Given the description of an element on the screen output the (x, y) to click on. 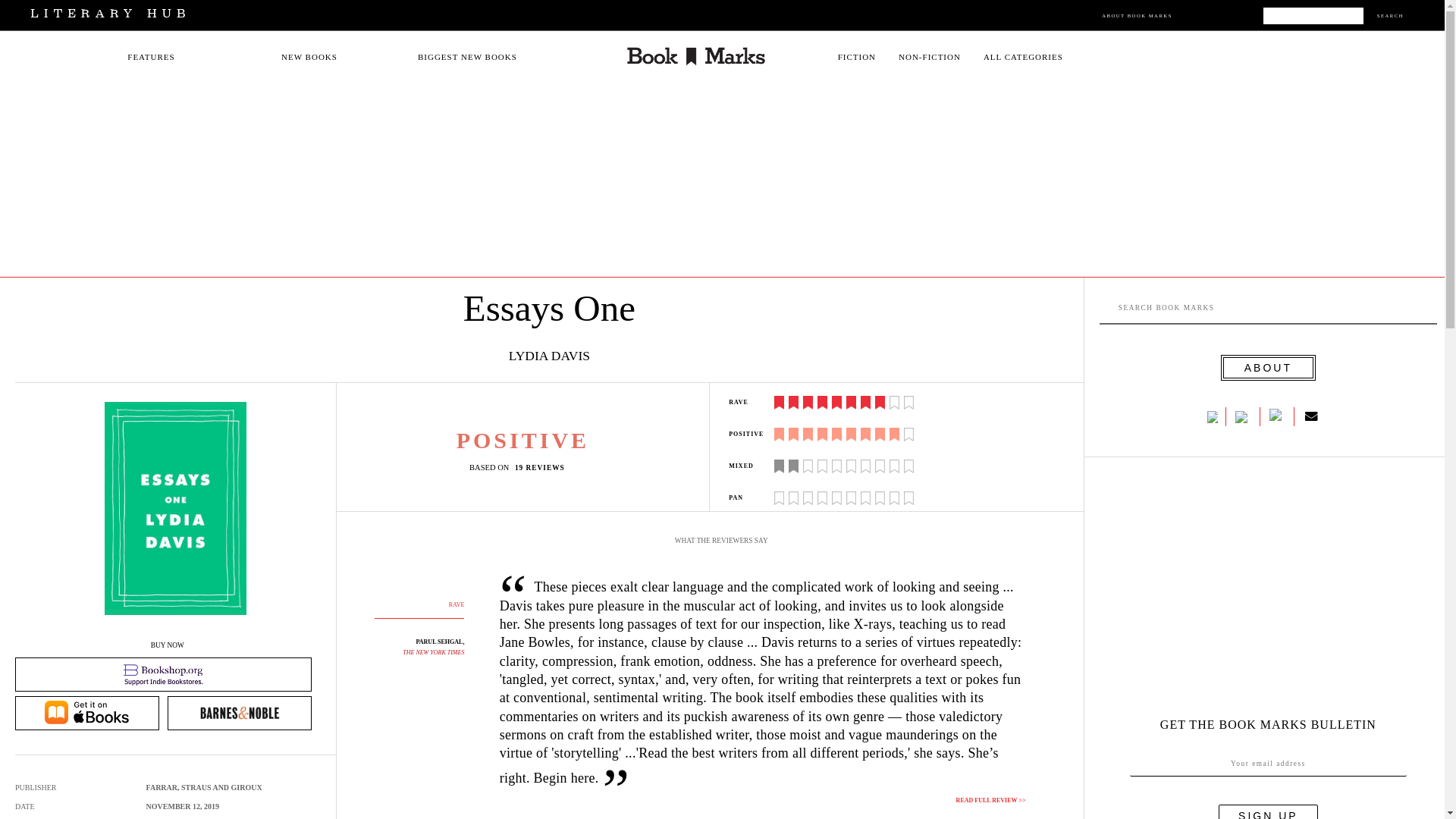
THE NEW YORK TIMES (433, 652)
NEW BOOKS (309, 56)
BIGGEST NEW BOOKS (466, 56)
PARUL SEHGAL, (440, 641)
FEATURES (151, 56)
NON-FICTION (929, 56)
FICTION (857, 56)
